Given the description of an element on the screen output the (x, y) to click on. 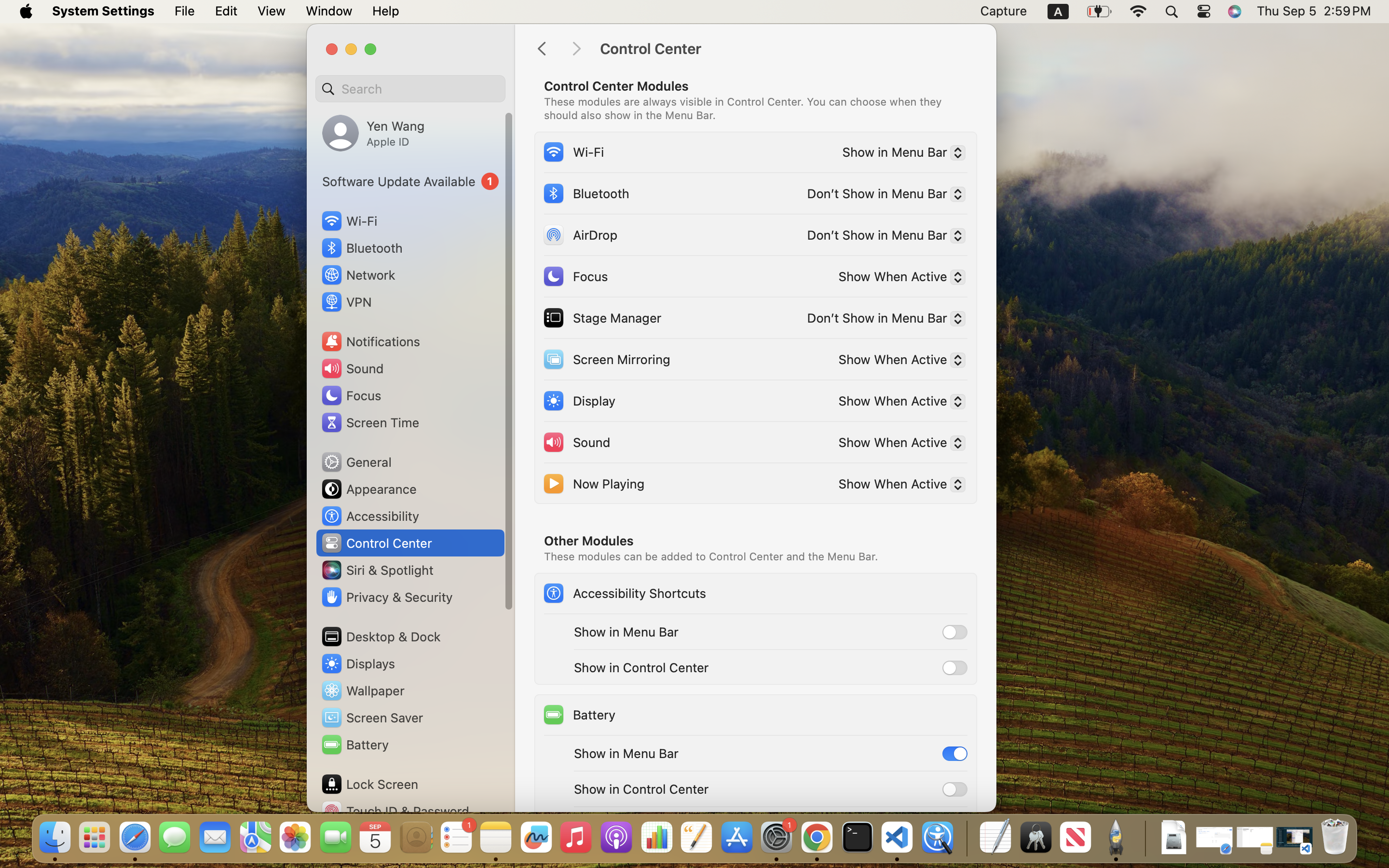
Network Element type: AXStaticText (357, 274)
Sound Element type: AXStaticText (576, 441)
Wallpaper Element type: AXStaticText (362, 690)
AirDrop Element type: AXStaticText (579, 233)
Siri & Spotlight Element type: AXStaticText (376, 569)
